Given the description of an element on the screen output the (x, y) to click on. 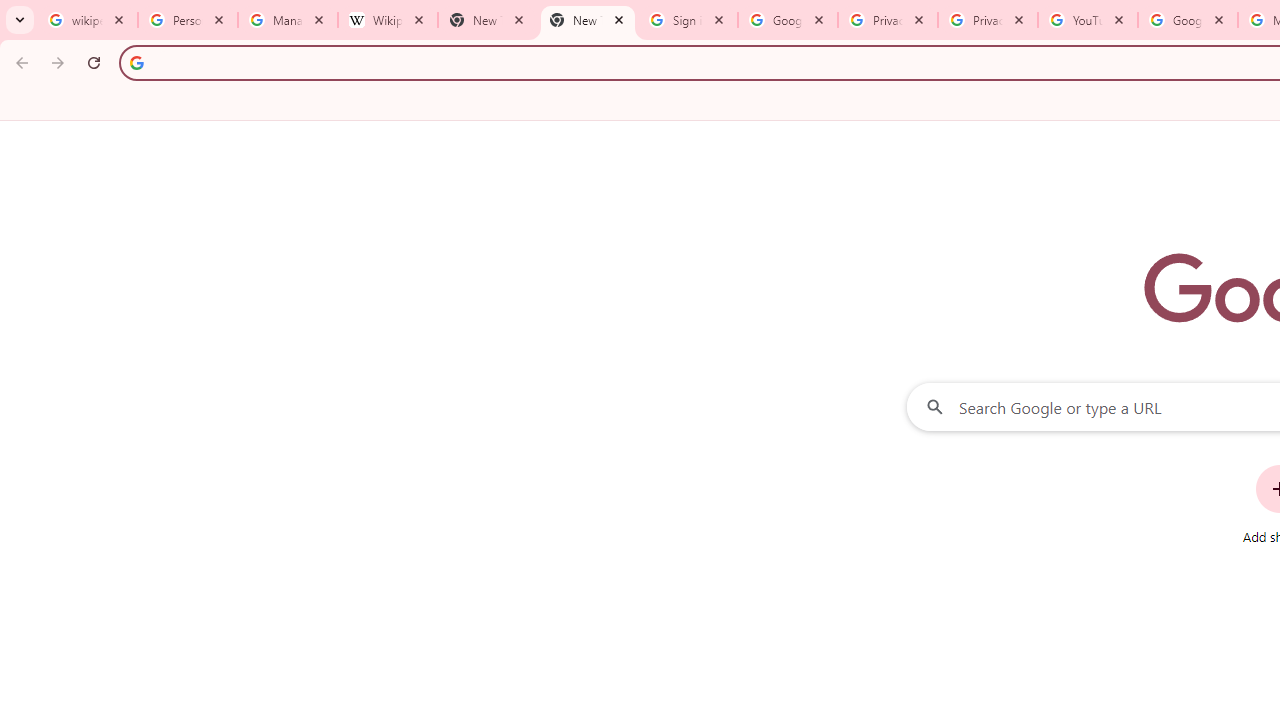
Google Drive: Sign-in (788, 20)
Personalization & Google Search results - Google Search Help (188, 20)
Wikipedia:Edit requests - Wikipedia (387, 20)
Sign in - Google Accounts (687, 20)
Google Account Help (1187, 20)
New Tab (587, 20)
Manage your Location History - Google Search Help (287, 20)
